Given the description of an element on the screen output the (x, y) to click on. 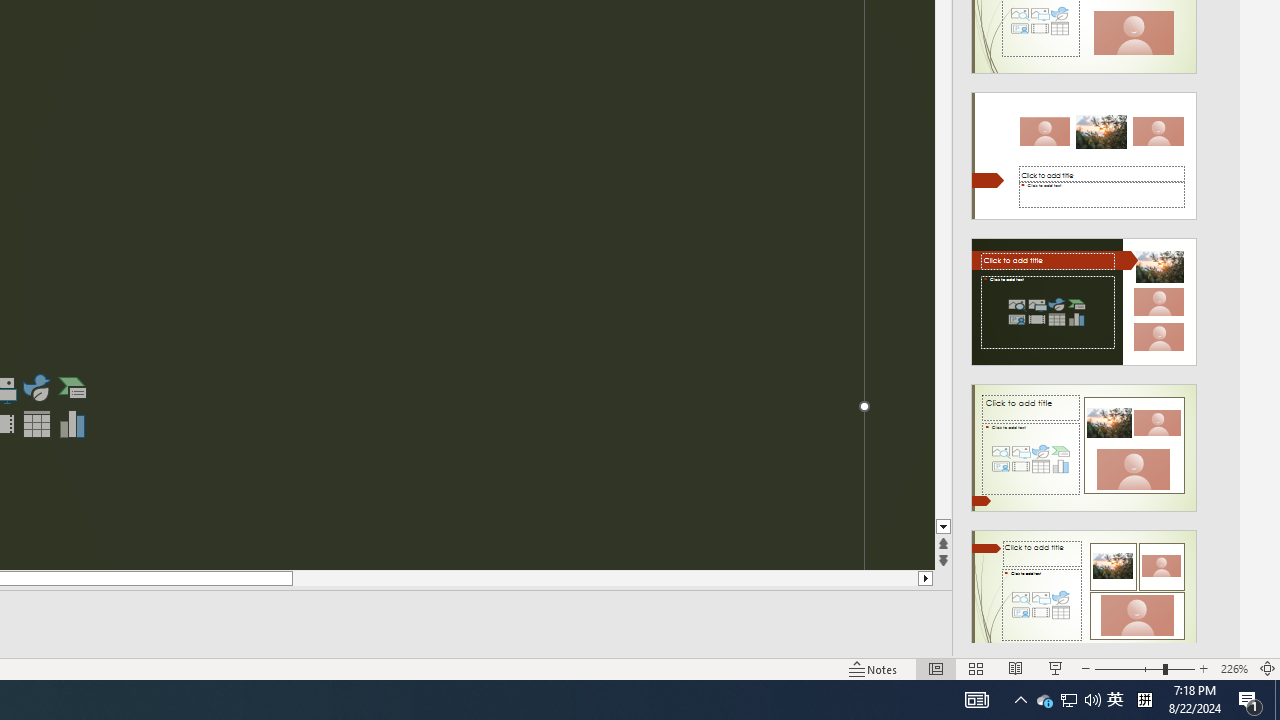
Insert Table (36, 423)
Insert a SmartArt Graphic (73, 387)
Insert an Icon (1044, 699)
